Given the description of an element on the screen output the (x, y) to click on. 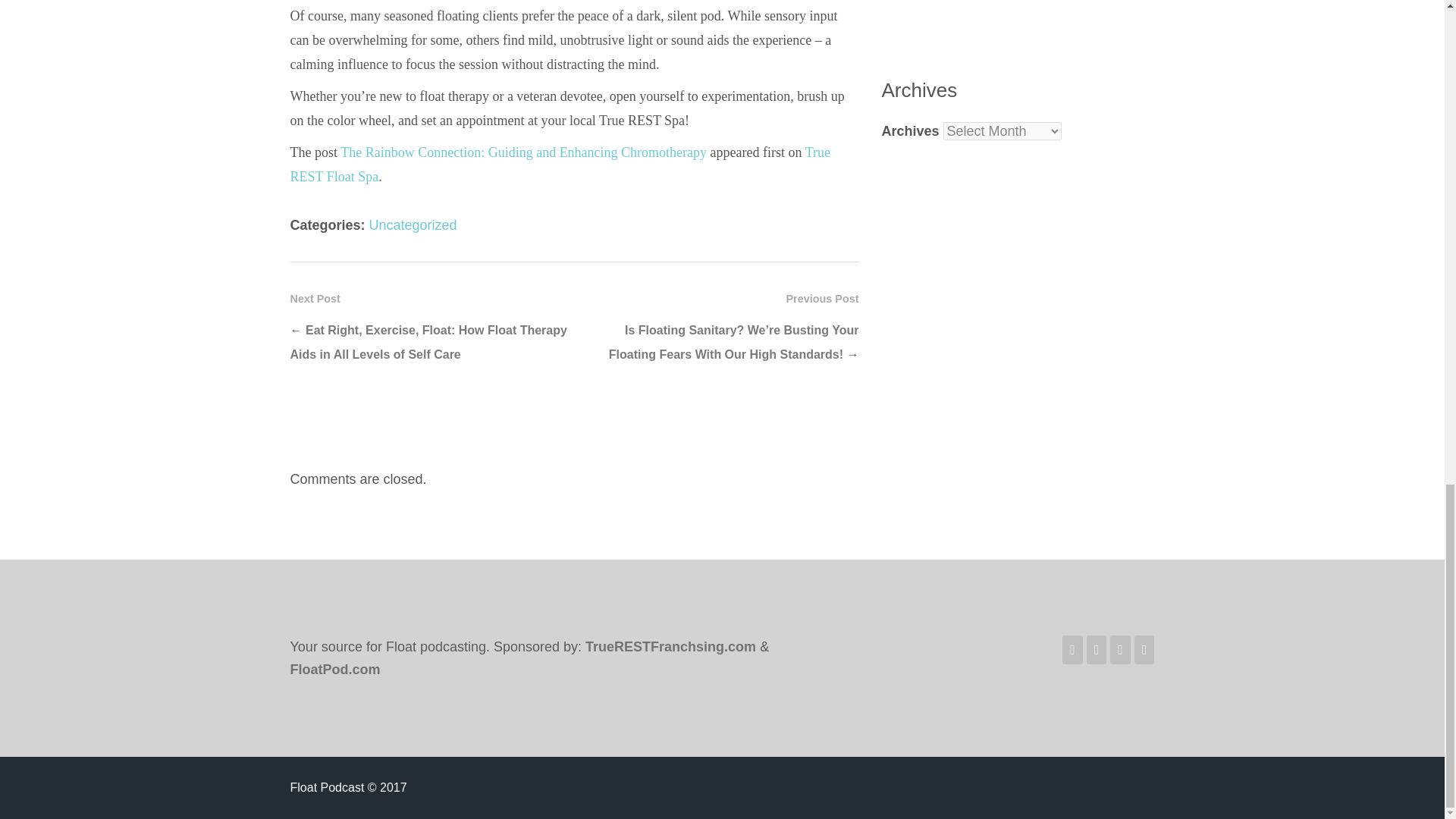
FloatPod.com (334, 669)
True REST Float Spa (559, 164)
Uncategorized (413, 224)
TrueRESTFranchsing.com (670, 646)
The Rainbow Connection: Guiding and Enhancing Chromotherapy (523, 151)
